Given the description of an element on the screen output the (x, y) to click on. 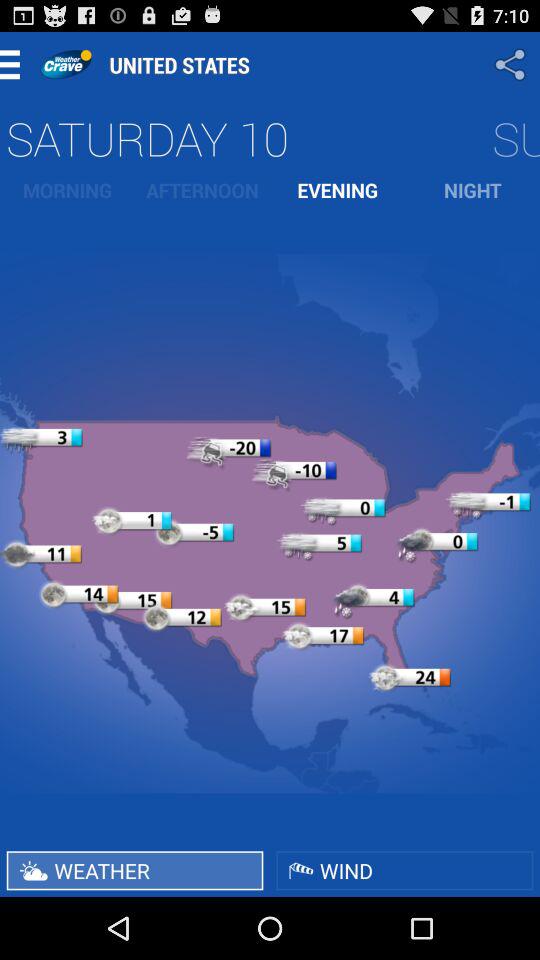
flip until night app (472, 190)
